Given the description of an element on the screen output the (x, y) to click on. 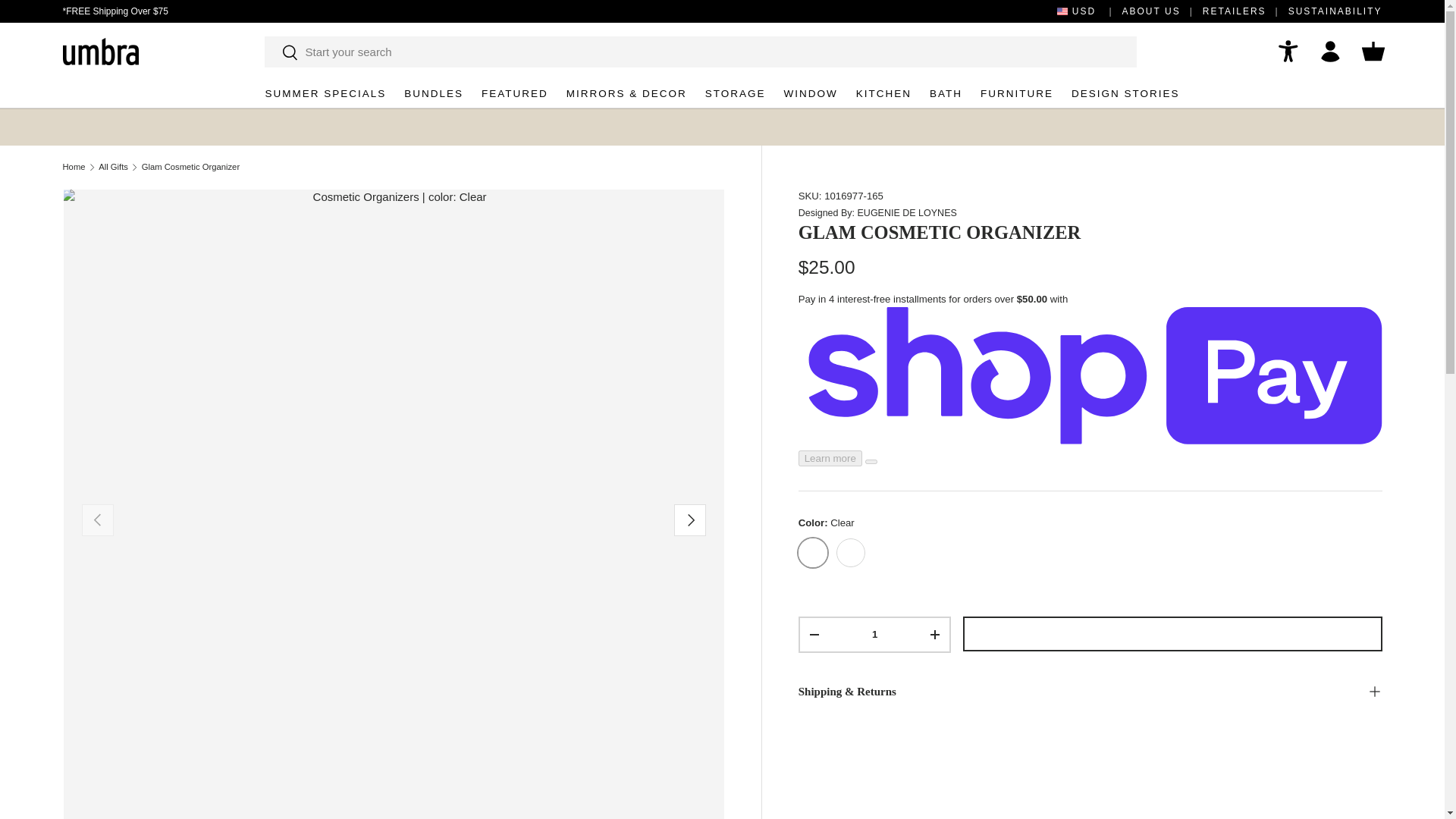
Log in (1329, 51)
RETAILERS (1245, 11)
STORAGE (734, 93)
Basket (1372, 51)
ABOUT US (1162, 11)
BUNDLES (433, 93)
Search (280, 52)
1 (874, 634)
Skip to content (69, 21)
SUSTAINABILITY (1334, 11)
FEATURED (514, 93)
SUMMER SPECIALS (324, 93)
